Given the description of an element on the screen output the (x, y) to click on. 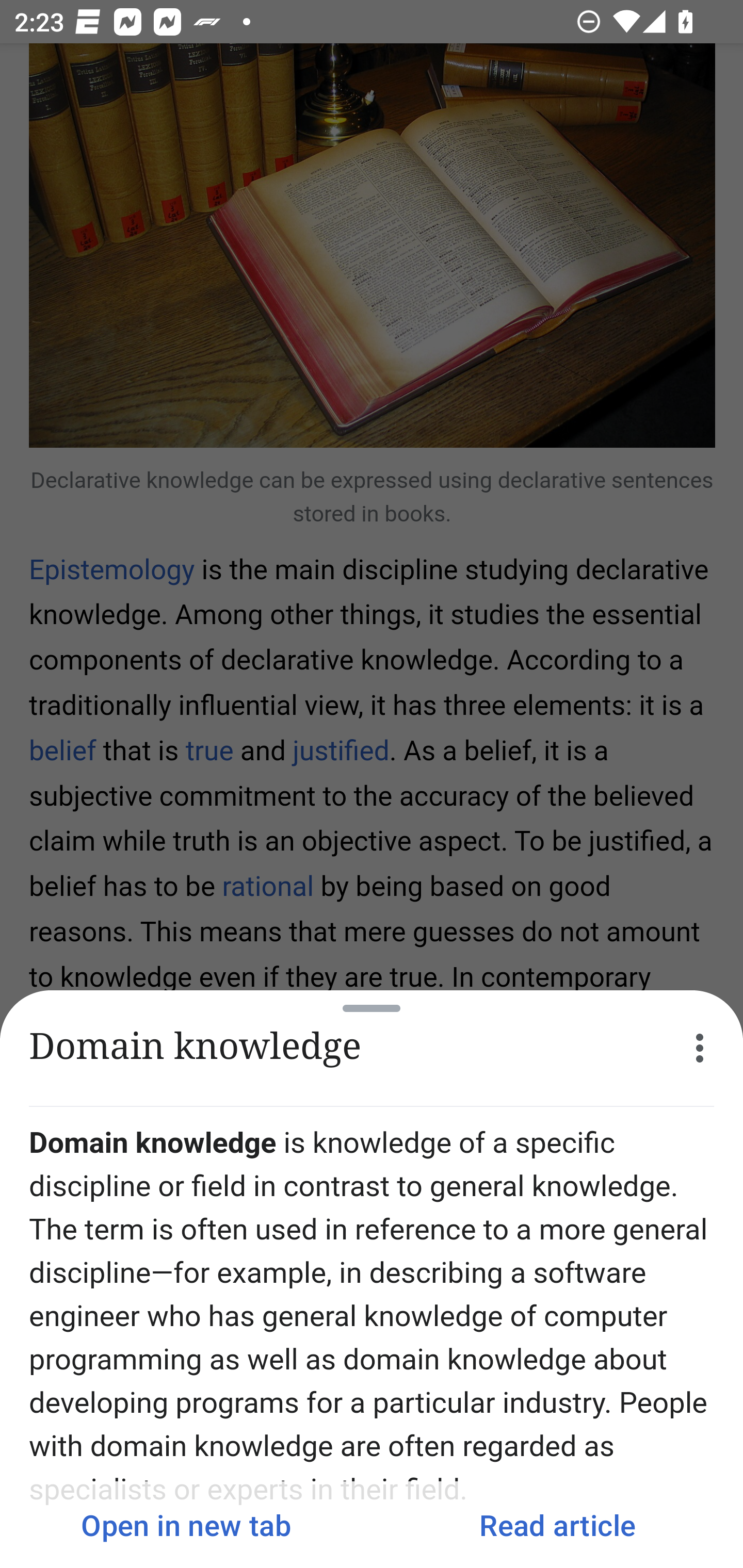
Domain knowledge More options (371, 1047)
More options (699, 1048)
Open in new tab (185, 1524)
Read article (557, 1524)
